Given the description of an element on the screen output the (x, y) to click on. 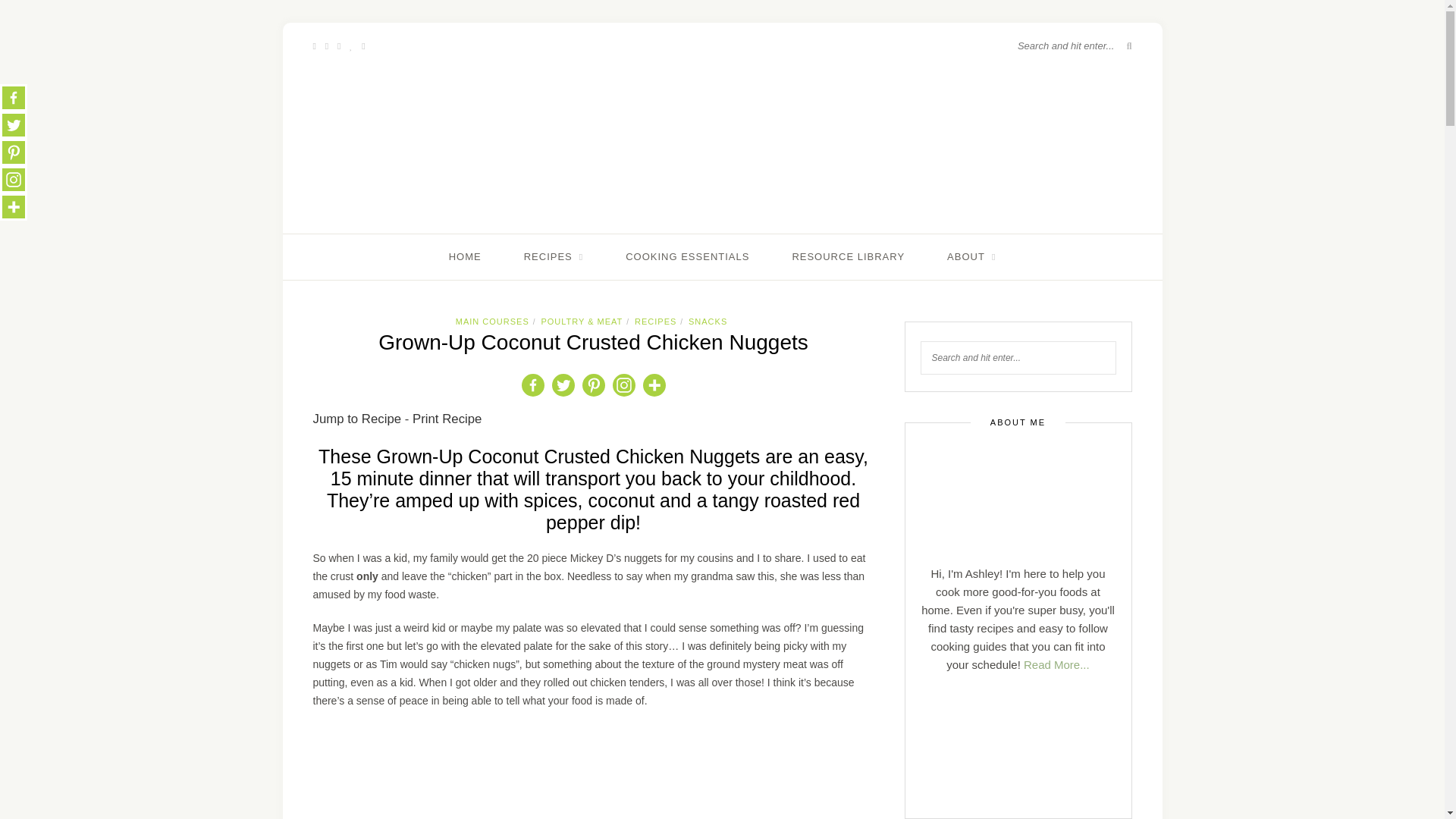
Twitter (13, 124)
Pinterest (593, 384)
Facebook (13, 97)
Instagram (13, 179)
COOKING ESSENTIALS (687, 257)
Twitter (562, 384)
RECIPES (553, 257)
RECIPES (655, 320)
Facebook (532, 384)
Pinterest (13, 152)
Print Recipe (446, 418)
SNACKS (707, 320)
ABOUT (971, 257)
Jump to Recipe (357, 418)
More (13, 206)
